Given the description of an element on the screen output the (x, y) to click on. 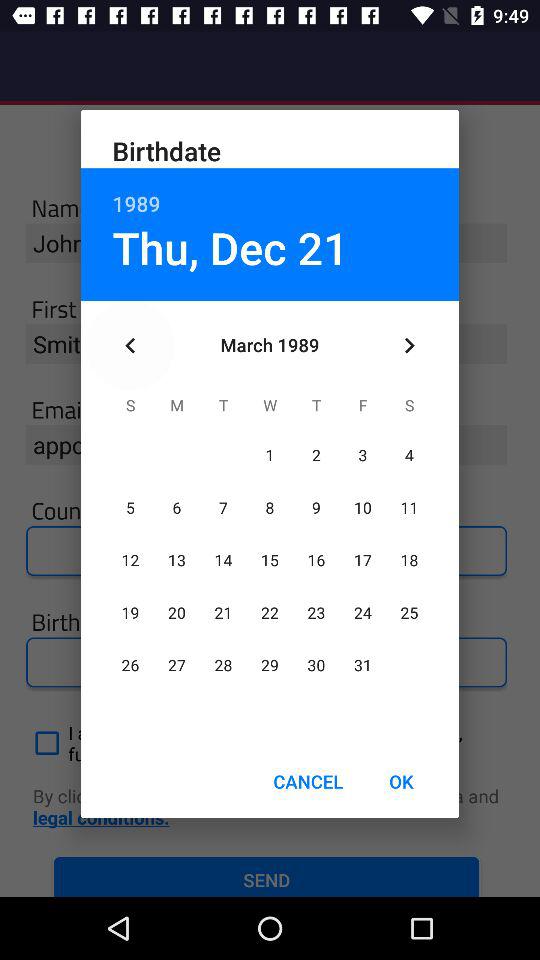
turn on the item to the left of the ok item (308, 781)
